Given the description of an element on the screen output the (x, y) to click on. 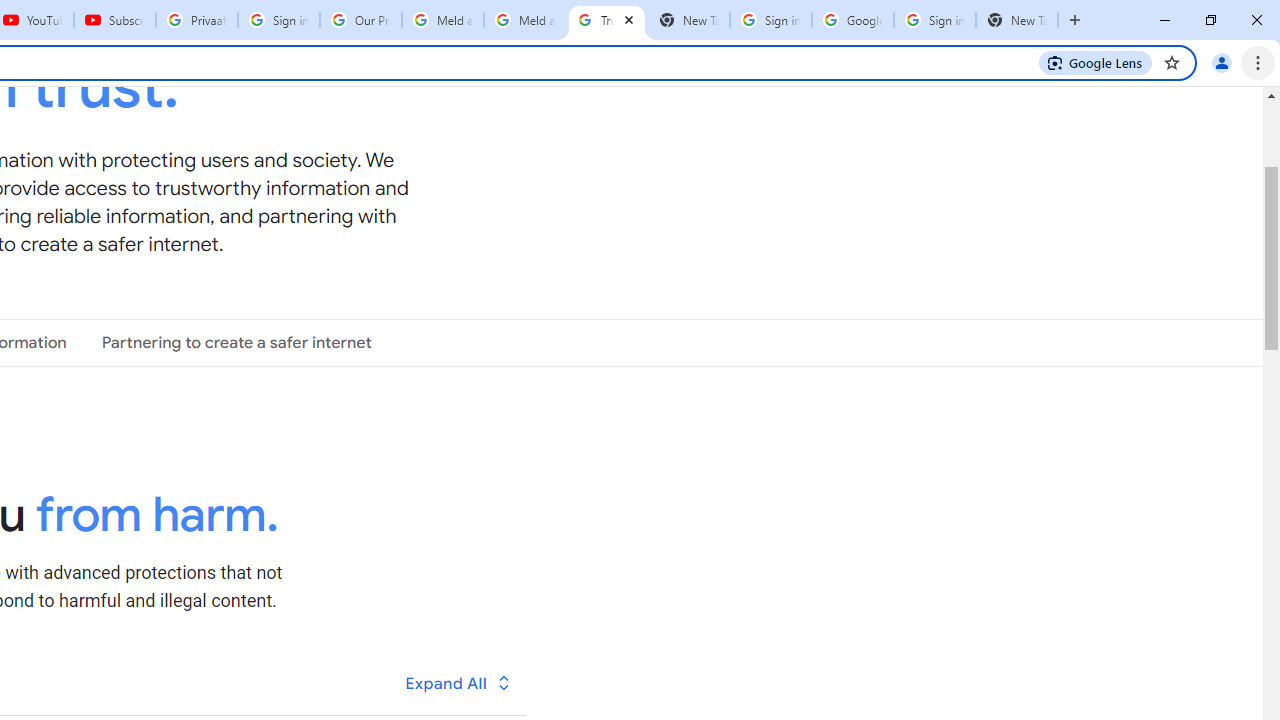
New Tab (1016, 20)
Sign in - Google Accounts (770, 20)
Expand All (459, 682)
Sign in - Google Accounts (278, 20)
